Given the description of an element on the screen output the (x, y) to click on. 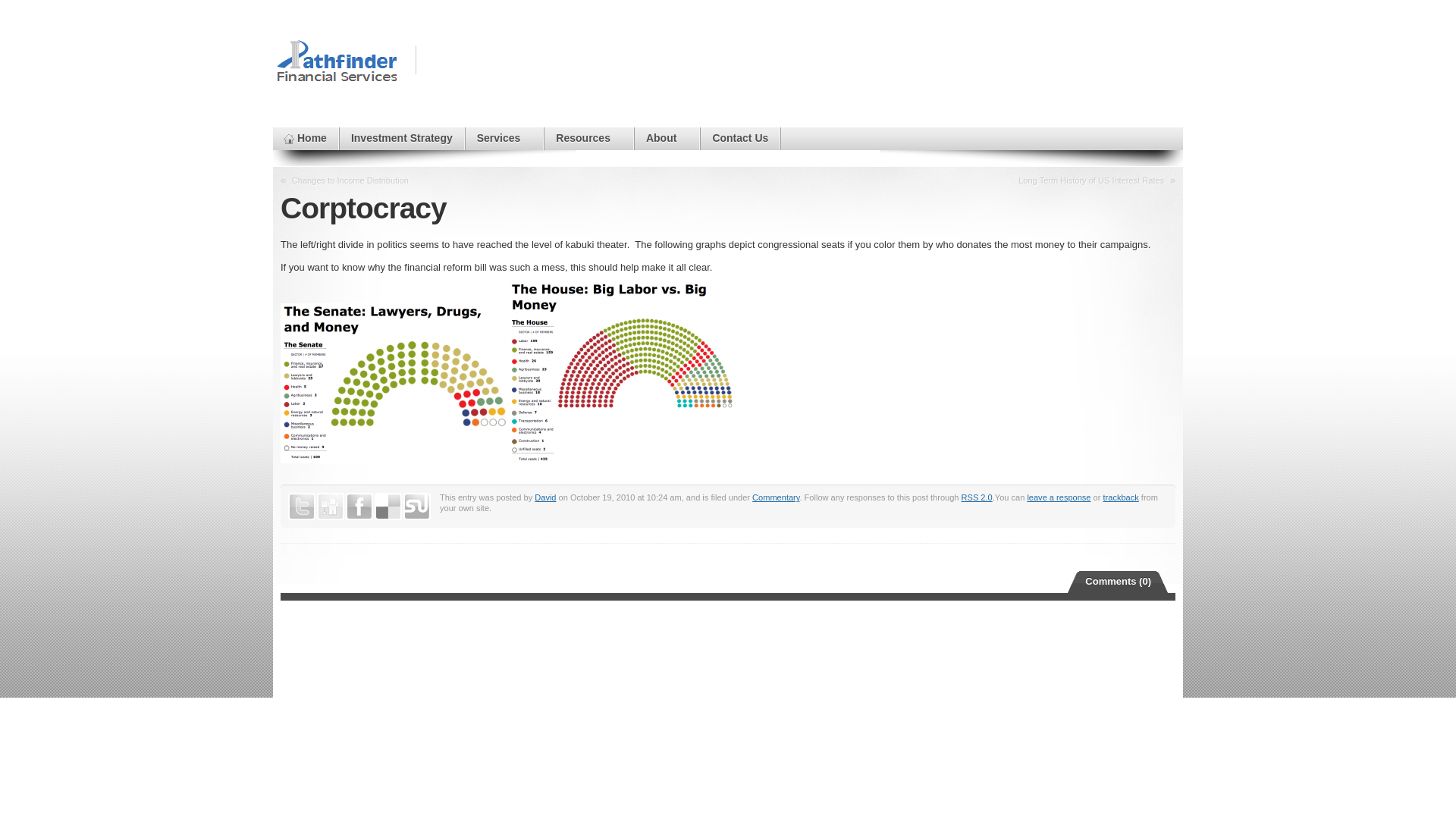
House-sponsor (621, 372)
RSS 2.0 (976, 497)
David (545, 497)
Share this post on Digg (330, 506)
Home (305, 138)
Investment Strategy (401, 138)
Posts by David  (545, 497)
Share this post on Delicious (387, 506)
About (666, 138)
Share this post on Facebook (359, 506)
Contact Us (739, 138)
Changes to Income Distribution (350, 180)
Pathfinder Financial Services, LLC (336, 60)
Senate-sponsors (394, 383)
Services (504, 138)
